Given the description of an element on the screen output the (x, y) to click on. 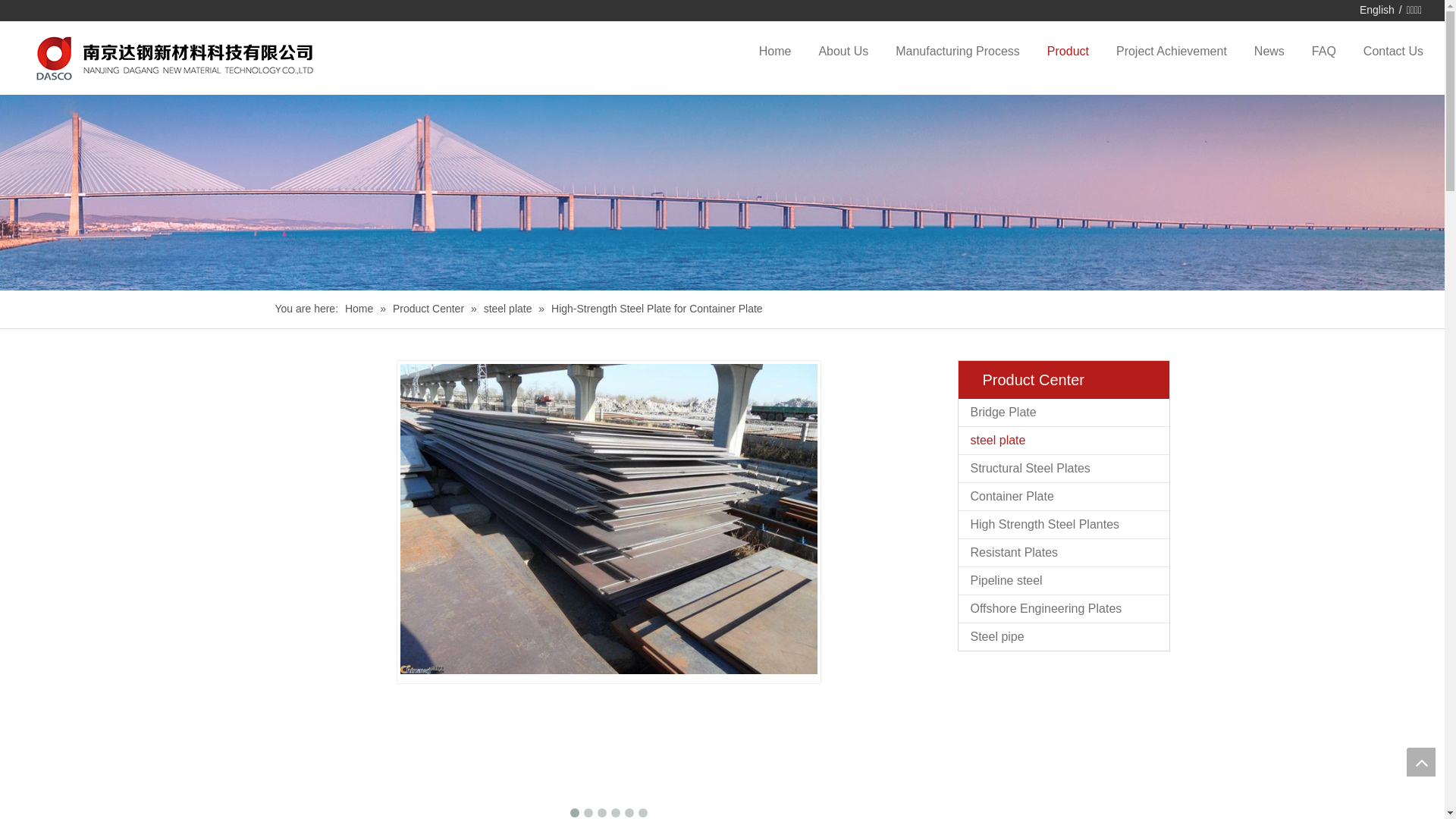
About Us Element type: text (843, 51)
News Element type: text (1269, 51)
Pipeline steel Element type: text (1063, 580)
steel plate Element type: text (509, 308)
Contact Us Element type: text (1393, 51)
Resistant Plates Element type: text (1063, 552)
Product Element type: text (1067, 51)
Offshore Engineering Plates Element type: text (1063, 608)
Container Plate Element type: text (1063, 496)
Steel pipe Element type: text (1063, 636)
Home Element type: text (775, 51)
Bridge Plate Element type: text (1063, 412)
steel plate Element type: text (1063, 440)
top Element type: text (1420, 761)
Home Element type: text (360, 308)
Project Achievement Element type: text (1171, 51)
Structural Steel Plates Element type: text (1063, 468)
English Element type: text (1376, 10)
Manufacturing Process Element type: text (957, 51)
High Strength Steel Plantes Element type: text (1063, 524)
Product Center Element type: text (429, 308)
FAQ Element type: text (1323, 51)
